Given the description of an element on the screen output the (x, y) to click on. 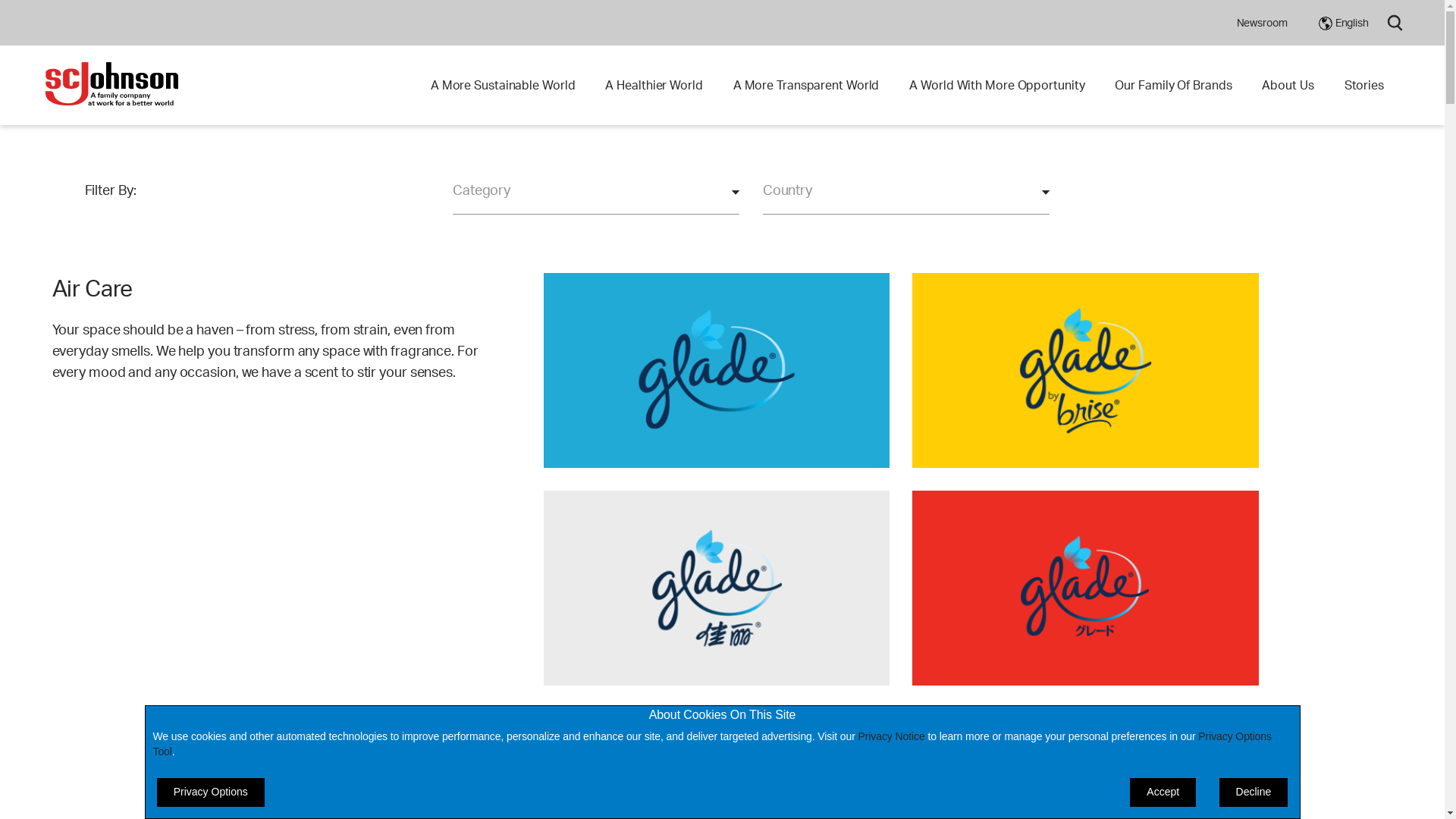
Our Family Of Brands Element type: text (1172, 84)
A World With More Opportunity Element type: text (996, 84)
Newsroom Element type: text (1261, 21)
Privacy Options Tool Element type: text (712, 743)
Accept Element type: text (1162, 792)
About Us Element type: text (1287, 84)
Stories Element type: text (1363, 84)
Decline Element type: text (1253, 792)
English Element type: text (1342, 22)
A More Sustainable World Element type: text (502, 84)
A More Transparent World Element type: text (806, 84)
Privacy Notice Element type: text (891, 736)
A Healthier World Element type: text (653, 84)
Privacy Options Element type: text (210, 792)
